Given the description of an element on the screen output the (x, y) to click on. 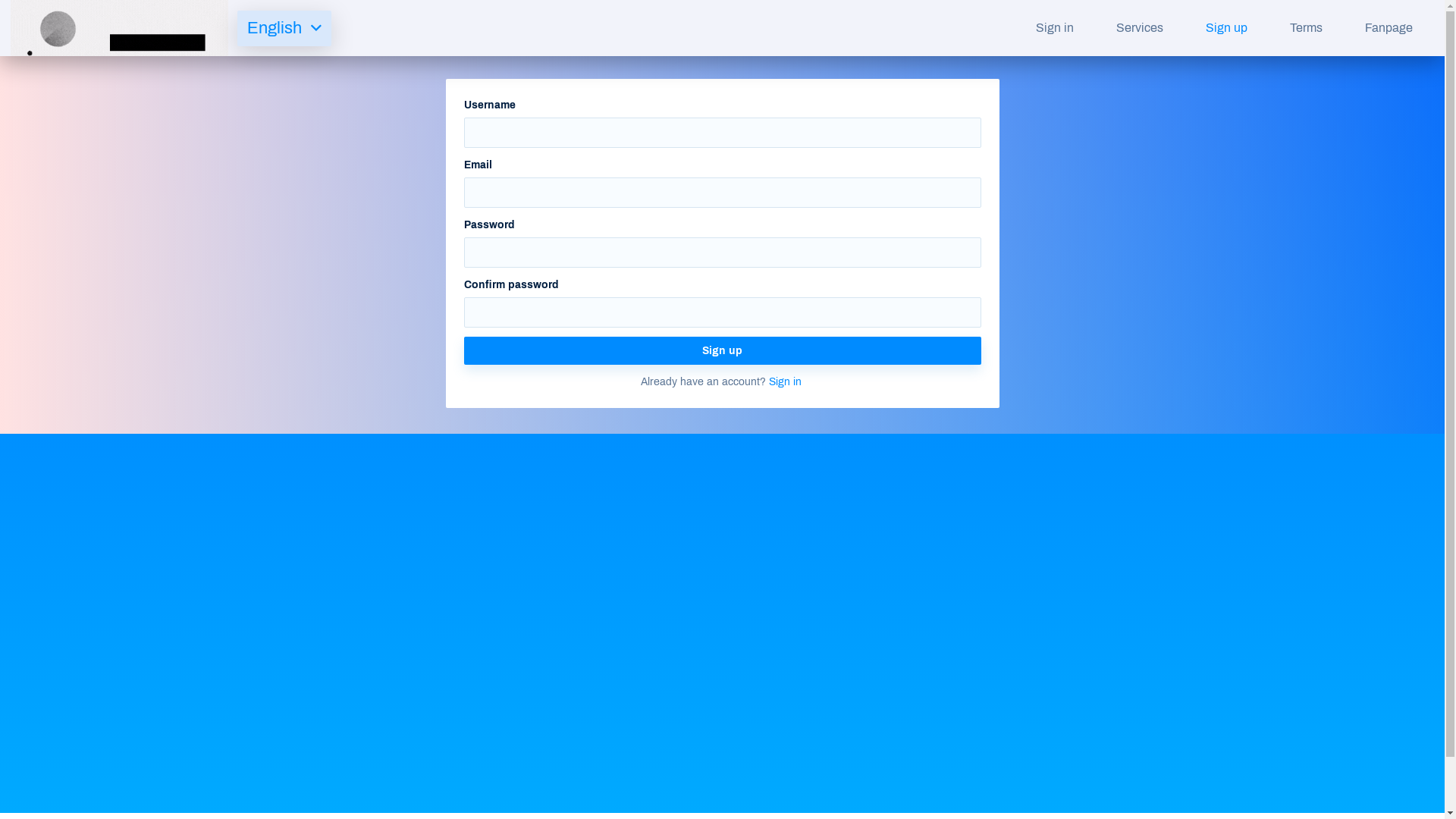
Sign up Element type: text (722, 350)
Sign in Element type: text (784, 381)
Fanpage Element type: text (1388, 27)
Sign in Element type: text (1054, 27)
Services Element type: text (1139, 27)
Terms Element type: text (1305, 27)
Sign up Element type: text (1226, 27)
